Given the description of an element on the screen output the (x, y) to click on. 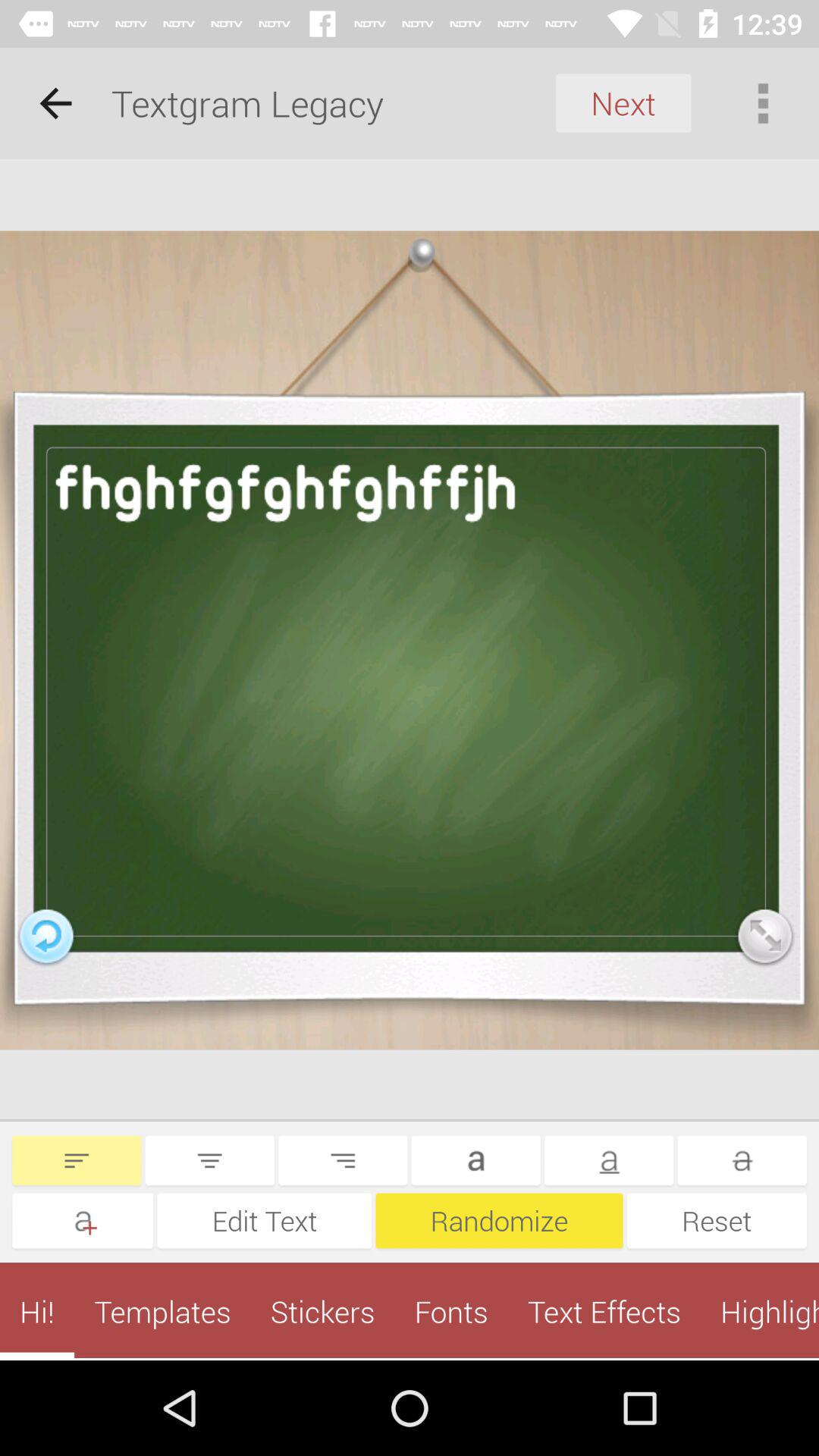
swipe until the hi! app (37, 1311)
